Given the description of an element on the screen output the (x, y) to click on. 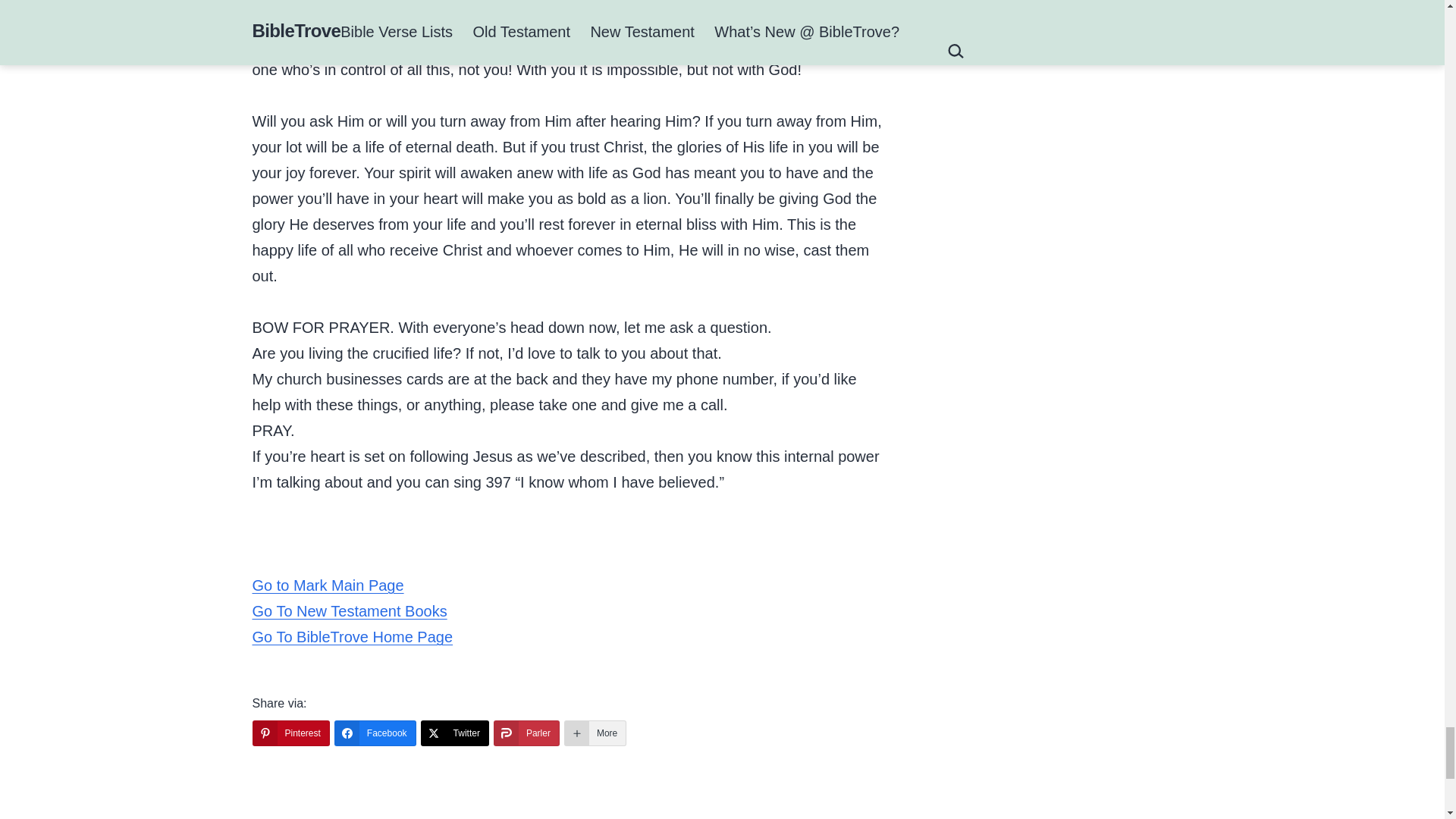
Pinterest (290, 733)
Go To New Testament Books (348, 610)
Twitter (454, 733)
Go to Mark Main Page (327, 585)
Go To BibleTrove Home Page (351, 636)
More (595, 733)
Facebook (375, 733)
Parler (526, 733)
